Given the description of an element on the screen output the (x, y) to click on. 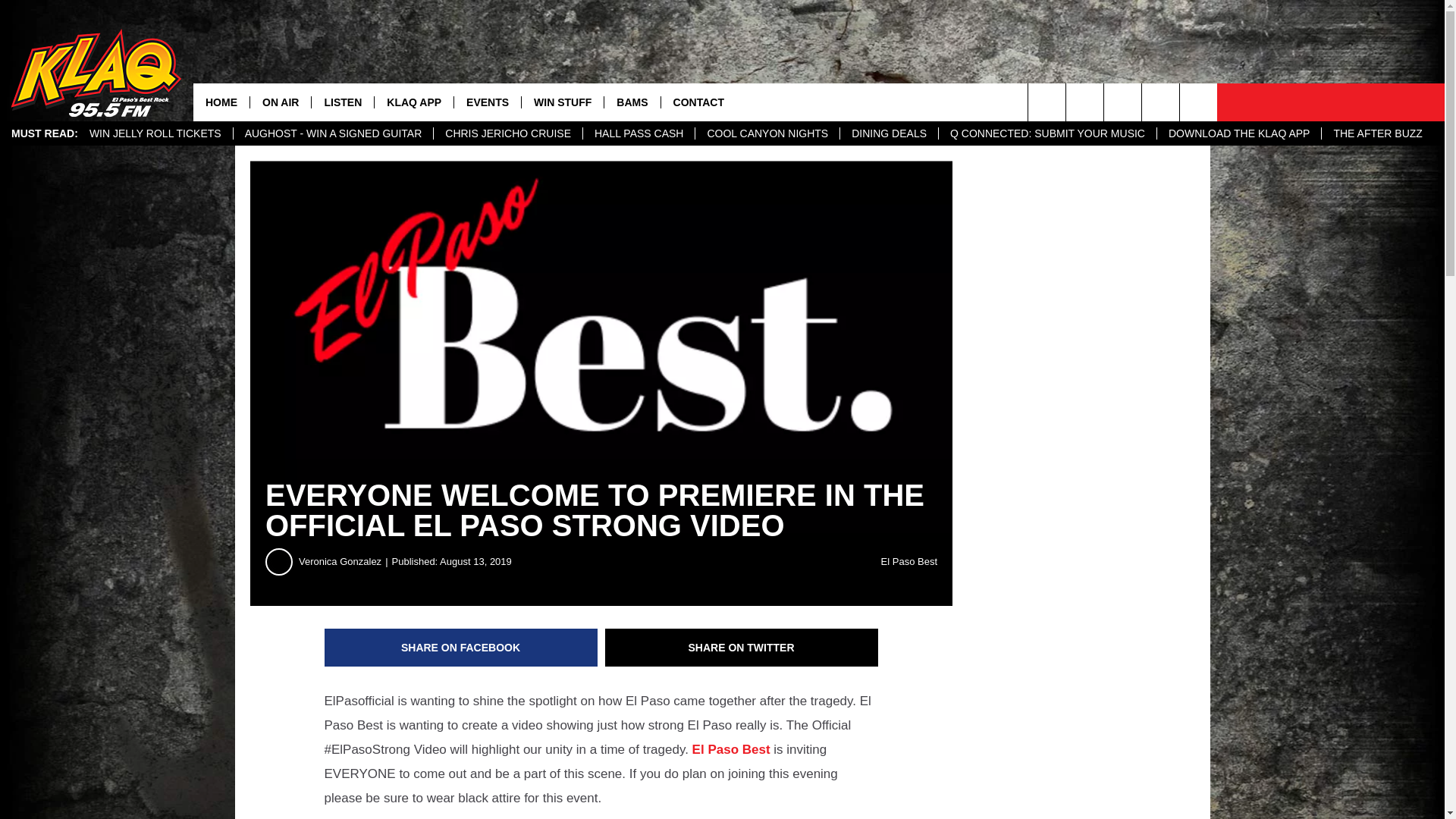
DOWNLOAD THE KLAQ APP (1238, 133)
Share on Twitter (741, 647)
LISTEN (342, 102)
COOL CANYON NIGHTS (767, 133)
AUGHOST - WIN A SIGNED GUITAR (332, 133)
HOME (220, 102)
KLAQ APP (413, 102)
CHRIS JERICHO CRUISE (507, 133)
Q CONNECTED: SUBMIT YOUR MUSIC (1046, 133)
THE AFTER BUZZ (1376, 133)
